Given the description of an element on the screen output the (x, y) to click on. 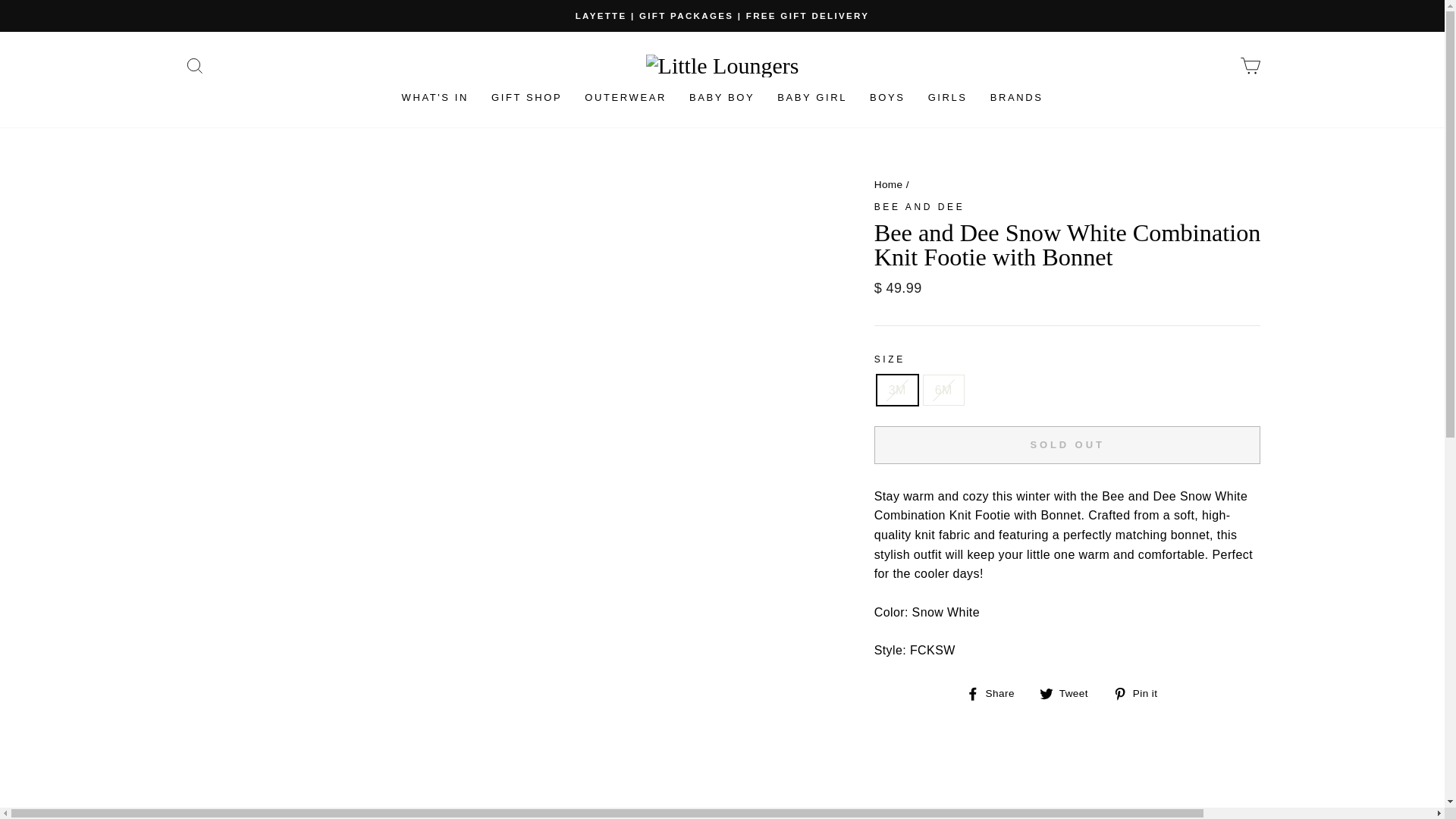
BEE AND DEE (920, 206)
Share on Facebook (996, 692)
Pin on Pinterest (1141, 692)
Tweet on Twitter (1069, 692)
Back to the frontpage (888, 184)
